Given the description of an element on the screen output the (x, y) to click on. 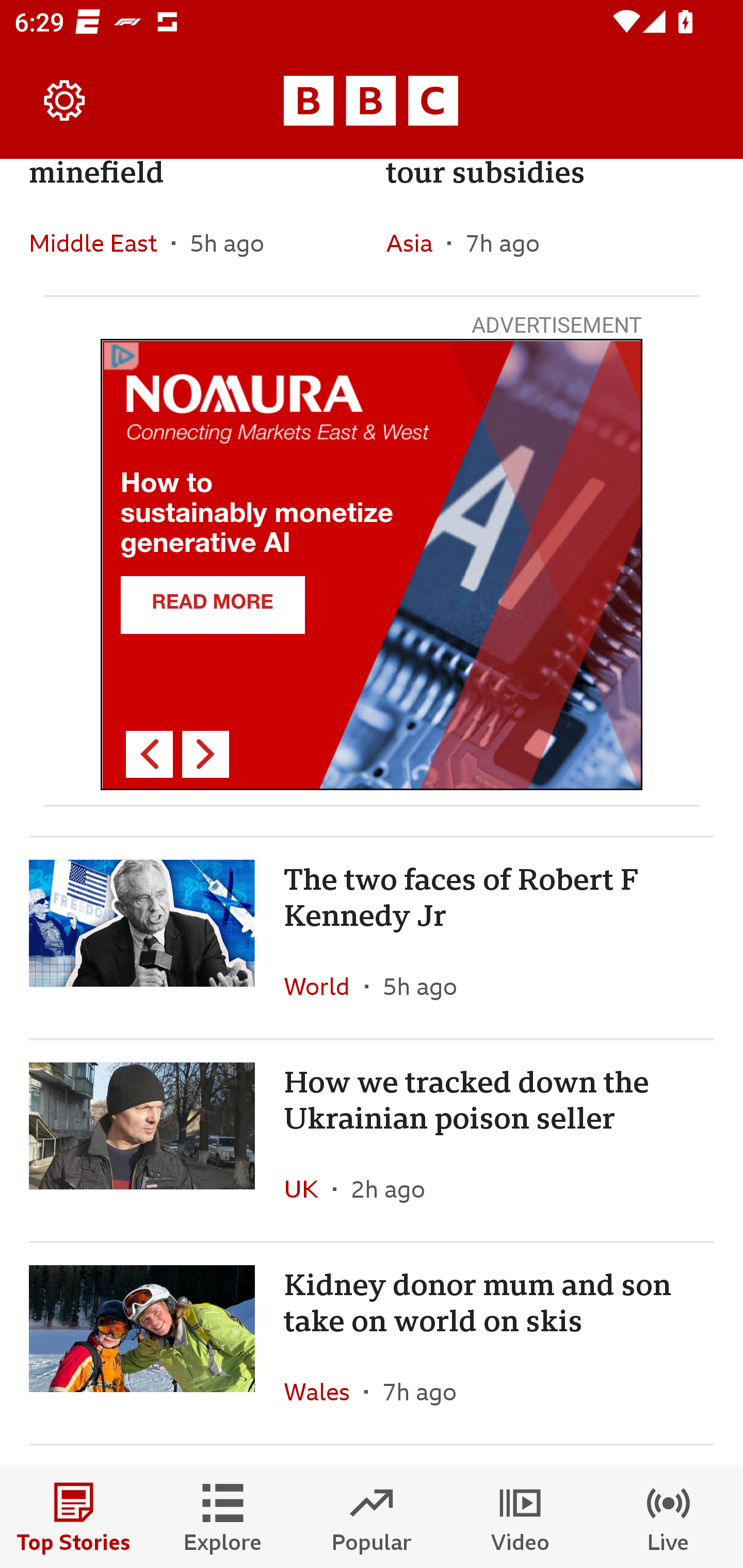
Settings (64, 100)
Middle East In the section Middle East (99, 242)
Asia In the section Asia (416, 242)
World In the section World (323, 986)
UK In the section UK (307, 1188)
Wales In the section Wales (323, 1391)
Explore (222, 1517)
Popular (371, 1517)
Video (519, 1517)
Live (668, 1517)
